Given the description of an element on the screen output the (x, y) to click on. 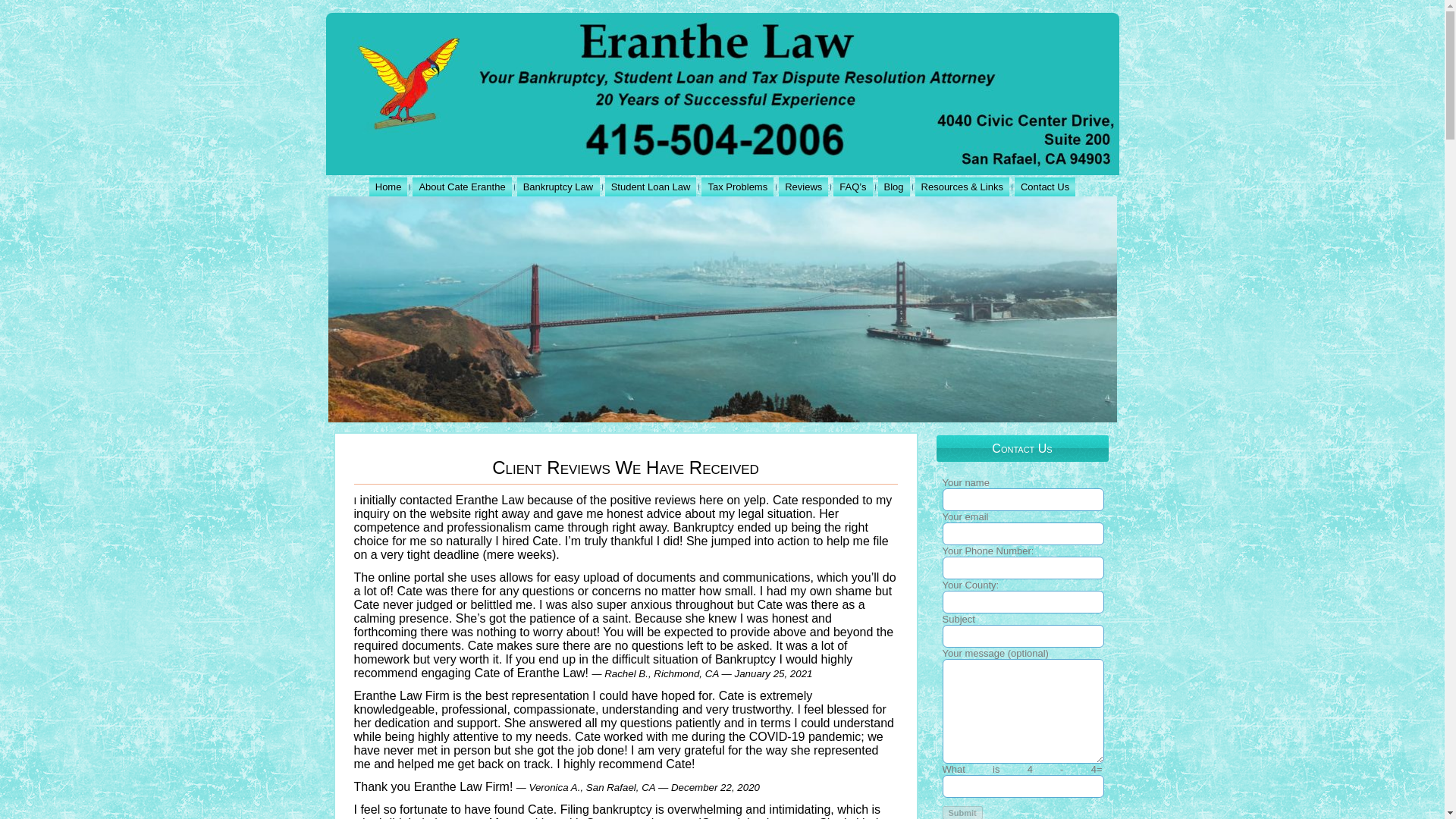
FAQ's (852, 186)
Contact Us (1044, 186)
Student Loan Law (651, 186)
About Cate Eranthe (461, 186)
Reviews (803, 186)
Bankruptcy Law (557, 186)
Contact Us (1044, 186)
About Cate Eranthe (461, 186)
Student Loan Law (651, 186)
Tax Problems (737, 186)
Submit (961, 812)
Home (388, 186)
Reviews (803, 186)
Submit (961, 812)
